Given the description of an element on the screen output the (x, y) to click on. 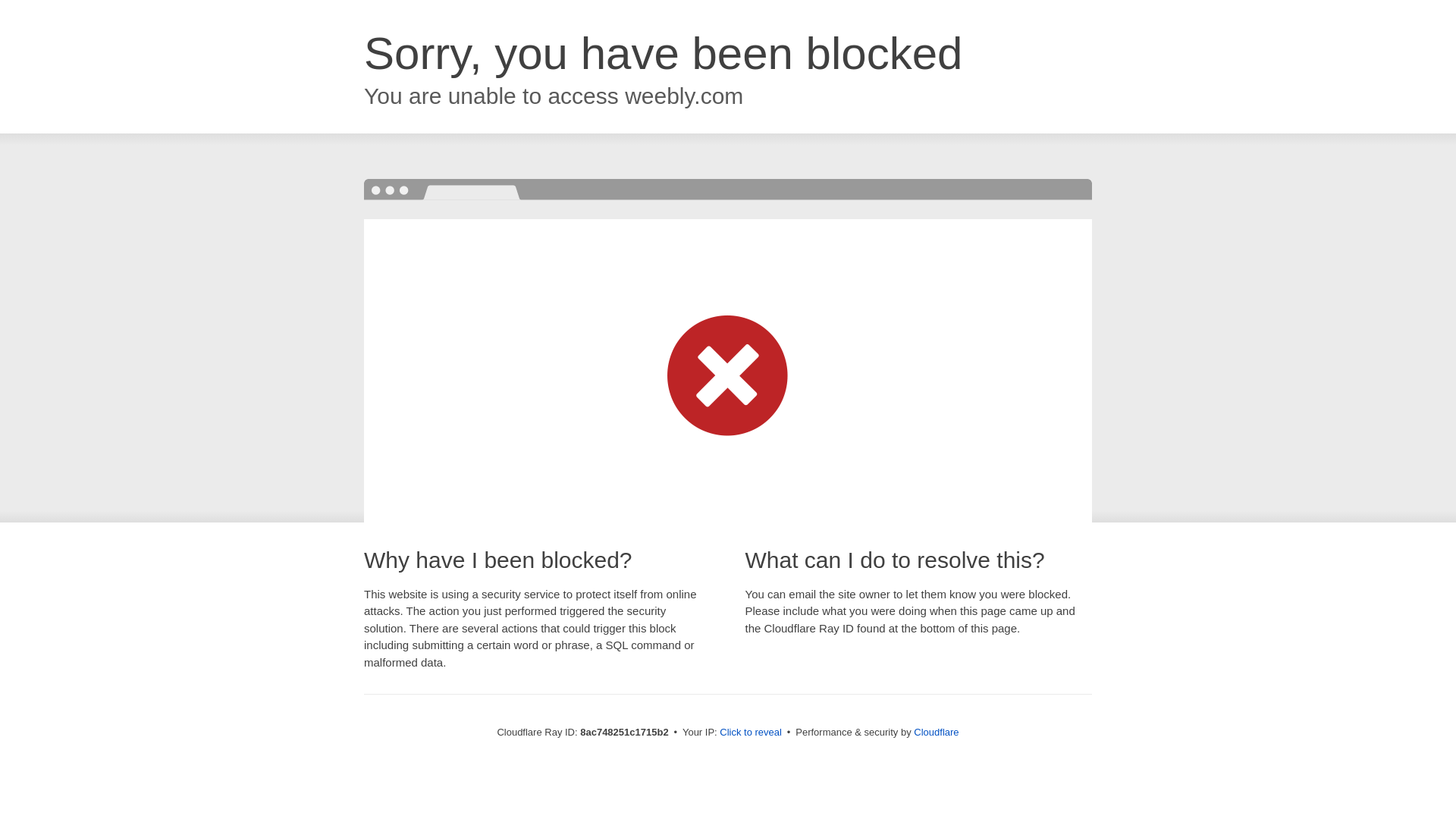
Cloudflare (936, 731)
Click to reveal (750, 732)
